Given the description of an element on the screen output the (x, y) to click on. 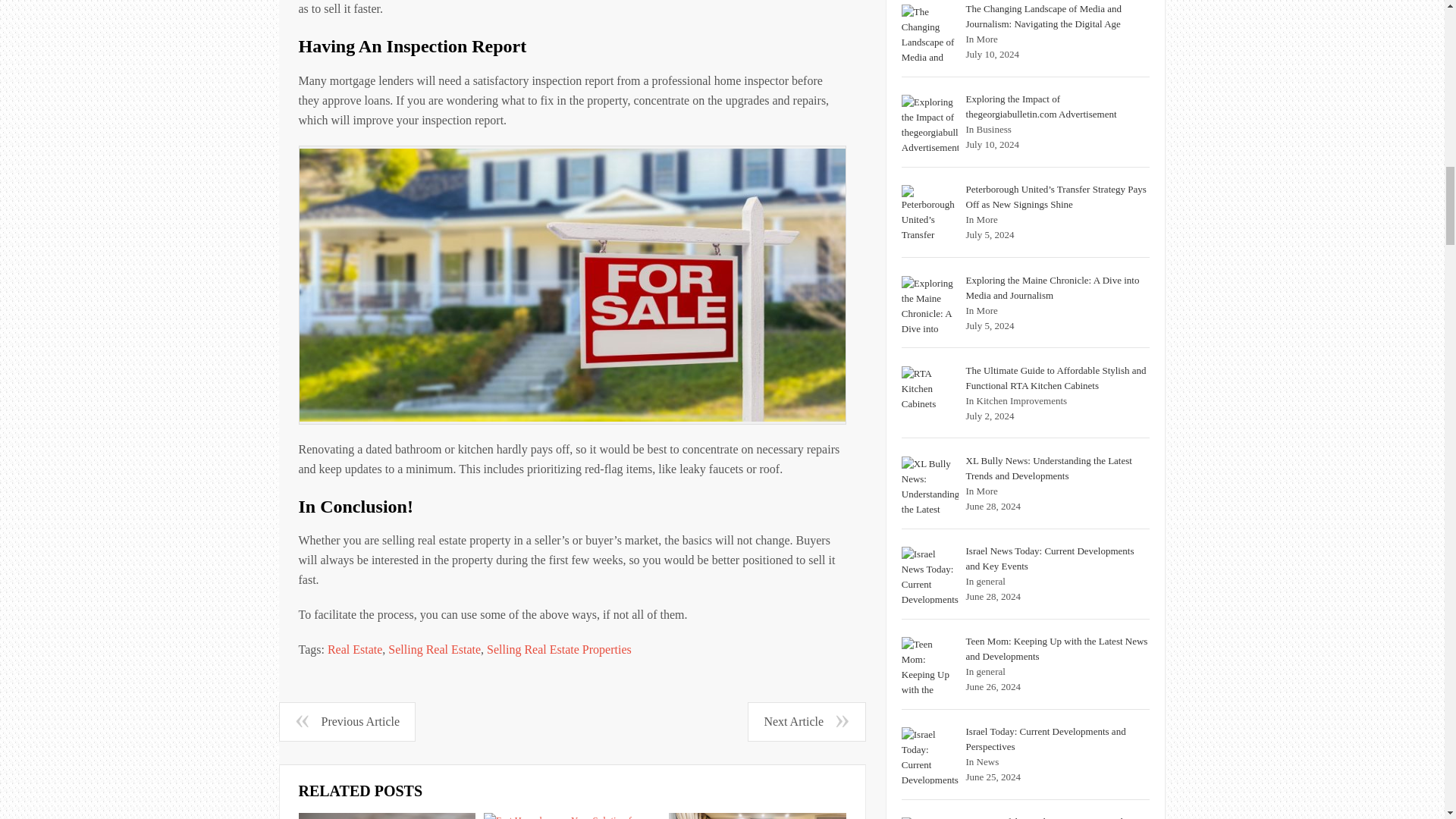
Real Estate (354, 649)
Selling Real Estate Properties (558, 649)
Selling Real Estate (434, 649)
Previous Article (346, 721)
